Given the description of an element on the screen output the (x, y) to click on. 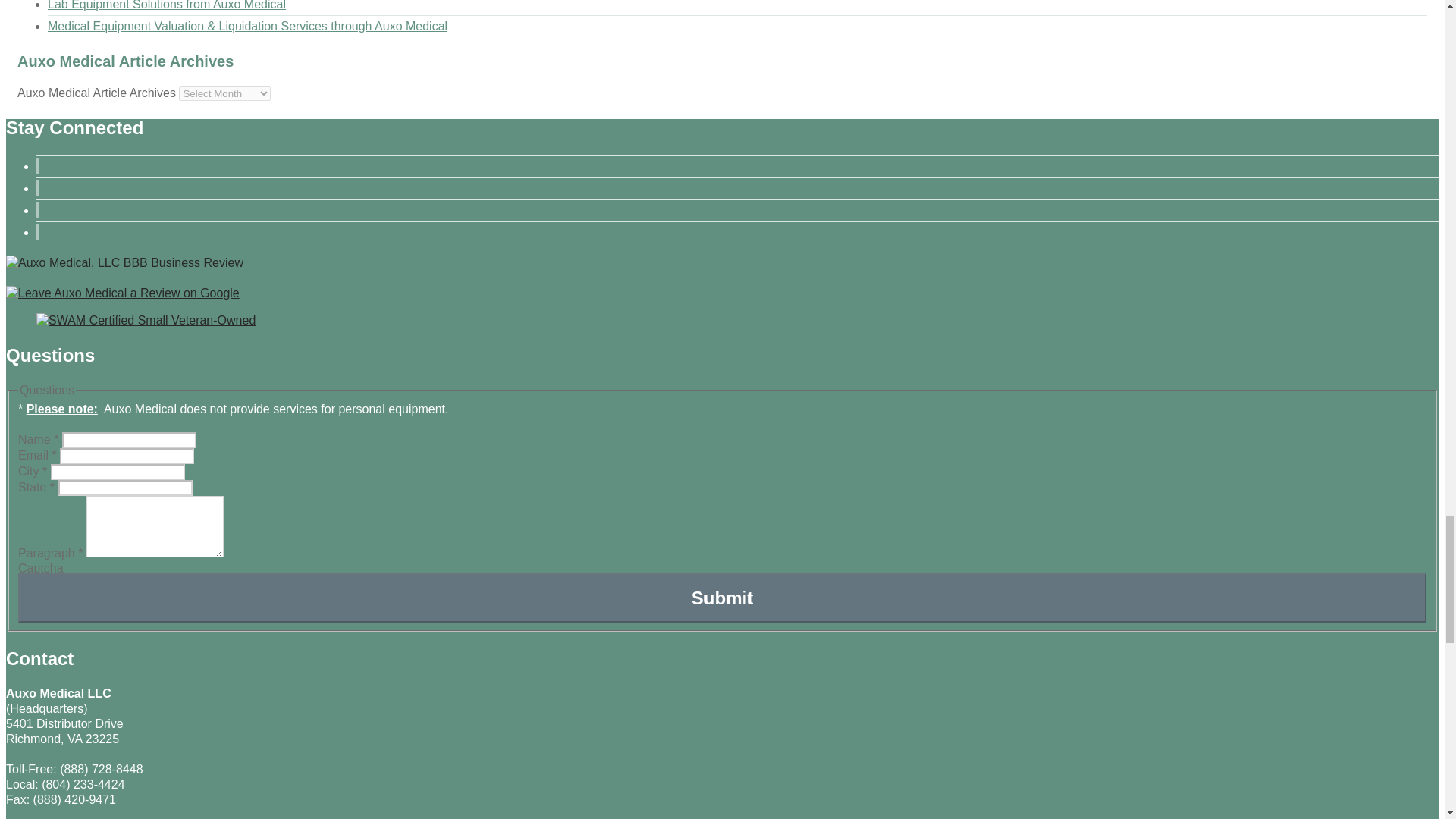
SWAM Certified-Small Veteran-Owned  (146, 320)
Facebook (37, 188)
Instagram (37, 232)
Twitter (37, 166)
LinkedIn (37, 210)
Leave Auxo Medical a Review on Google (122, 293)
